Given the description of an element on the screen output the (x, y) to click on. 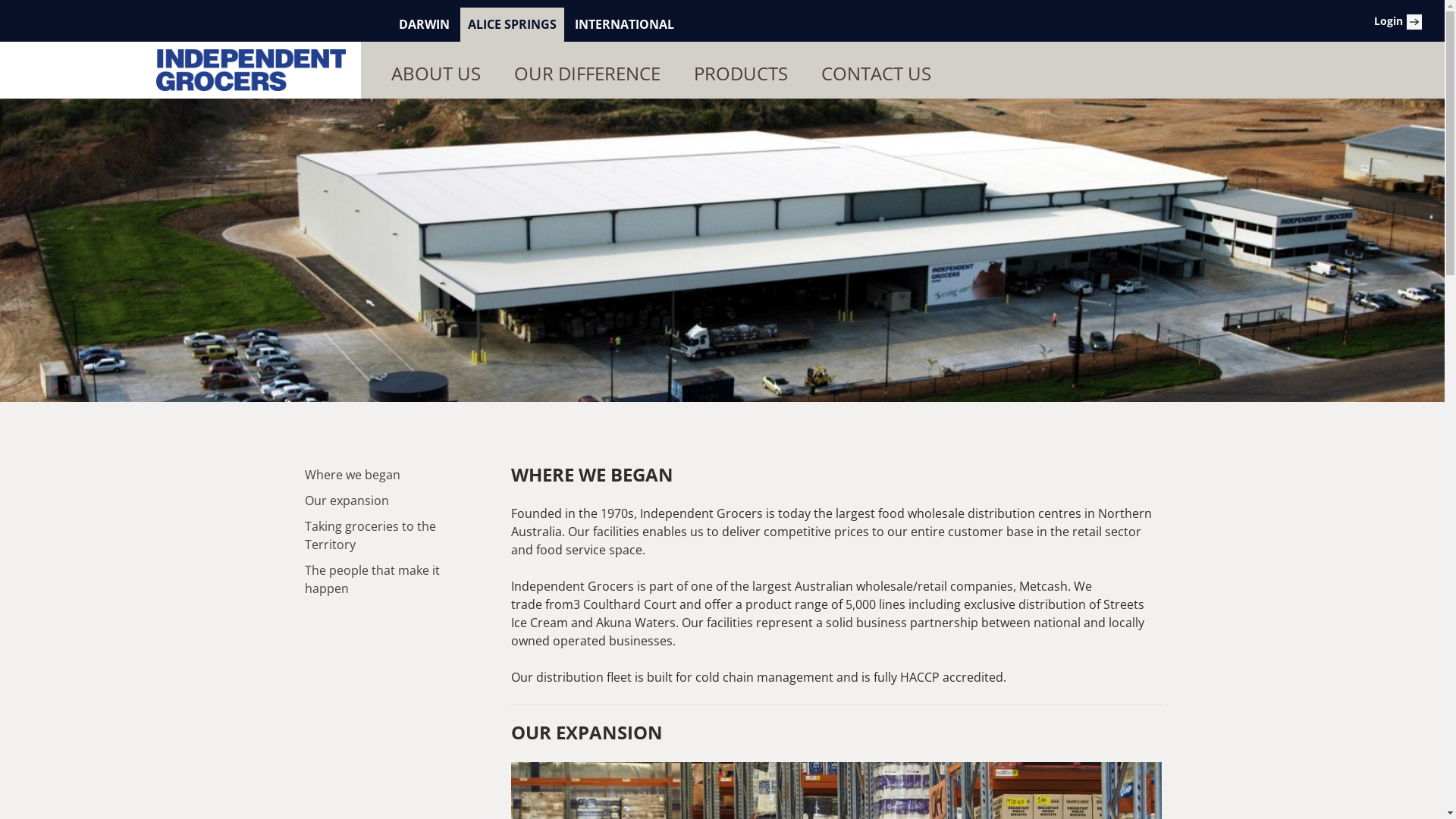
ABOUT US Element type: text (431, 73)
CONTACT US Element type: text (872, 73)
OUR DIFFERENCE Element type: text (583, 73)
DARWIN Element type: text (424, 24)
ALICE SPRINGS Element type: text (512, 24)
Our expansion Element type: text (389, 500)
Login Element type: text (1388, 20)
INTERNATIONAL Element type: text (624, 24)
Taking groceries to the Territory Element type: text (389, 535)
Where we began Element type: text (389, 474)
INDEPENDENT GROCERS Element type: text (250, 70)
Skip to main content Element type: text (59, 0)
PRODUCTS Element type: text (736, 73)
The people that make it happen Element type: text (389, 579)
